Given the description of an element on the screen output the (x, y) to click on. 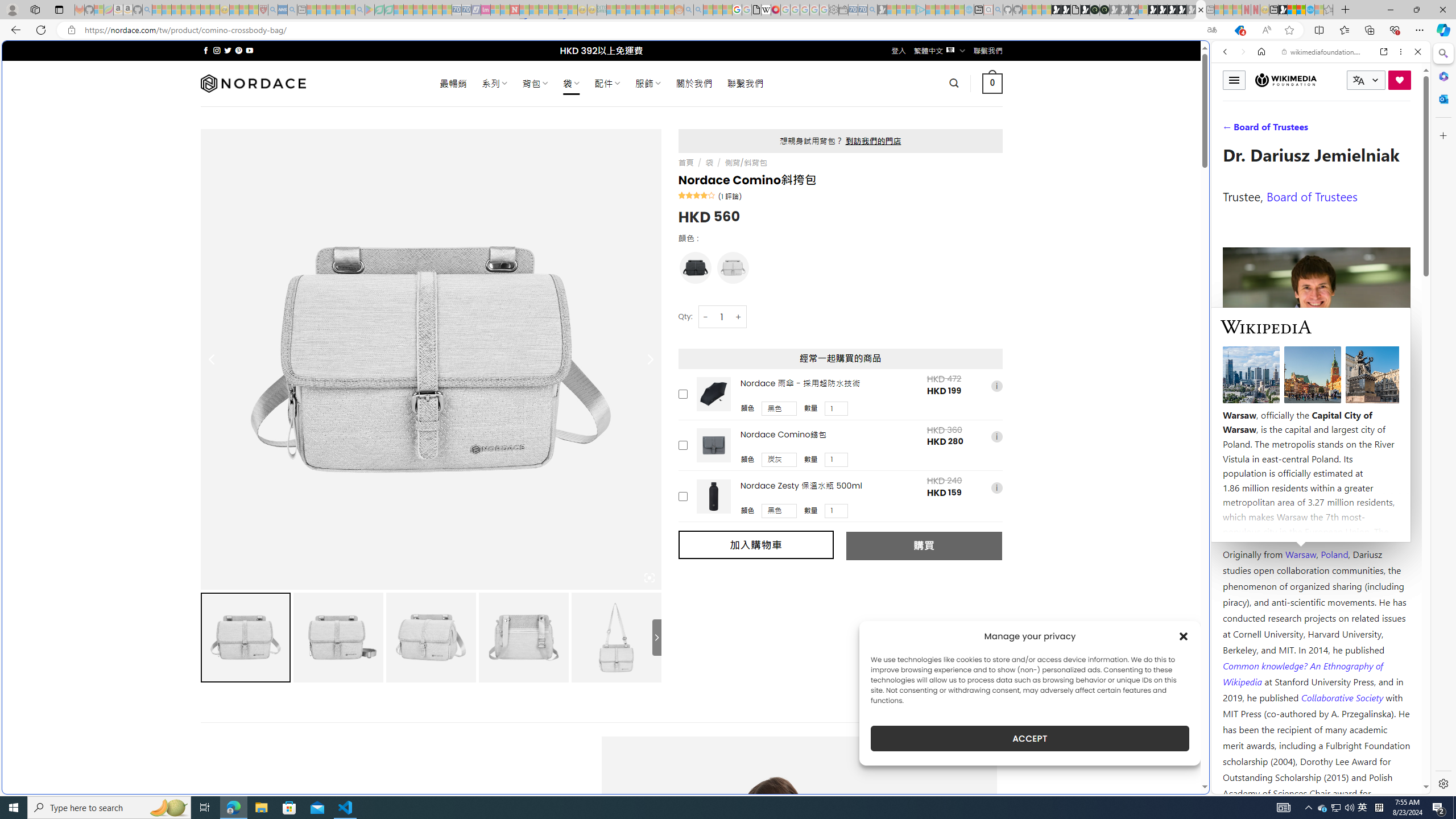
- (705, 316)
Wiktionary (1315, 380)
